Given the description of an element on the screen output the (x, y) to click on. 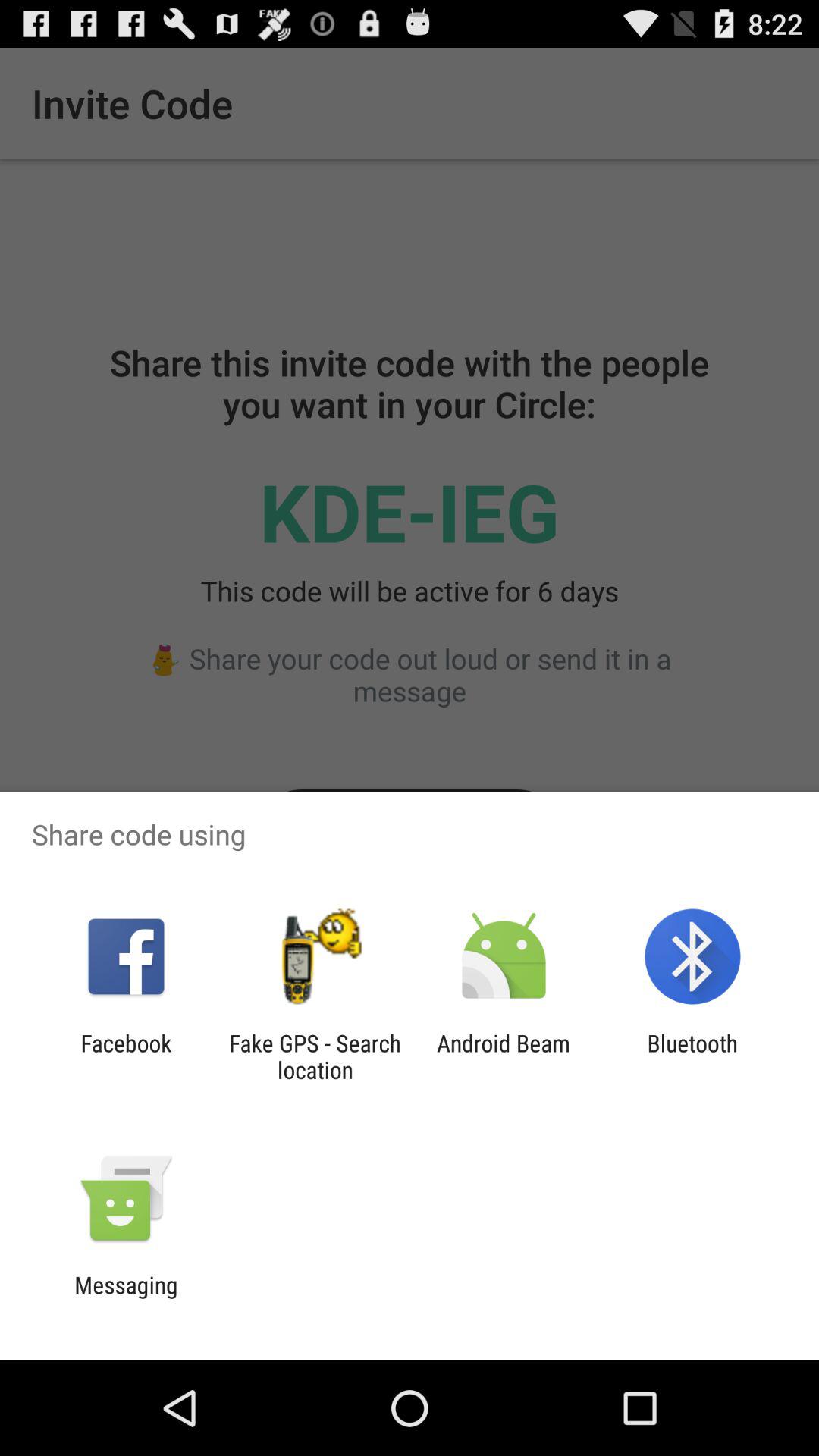
open the android beam app (503, 1056)
